Given the description of an element on the screen output the (x, y) to click on. 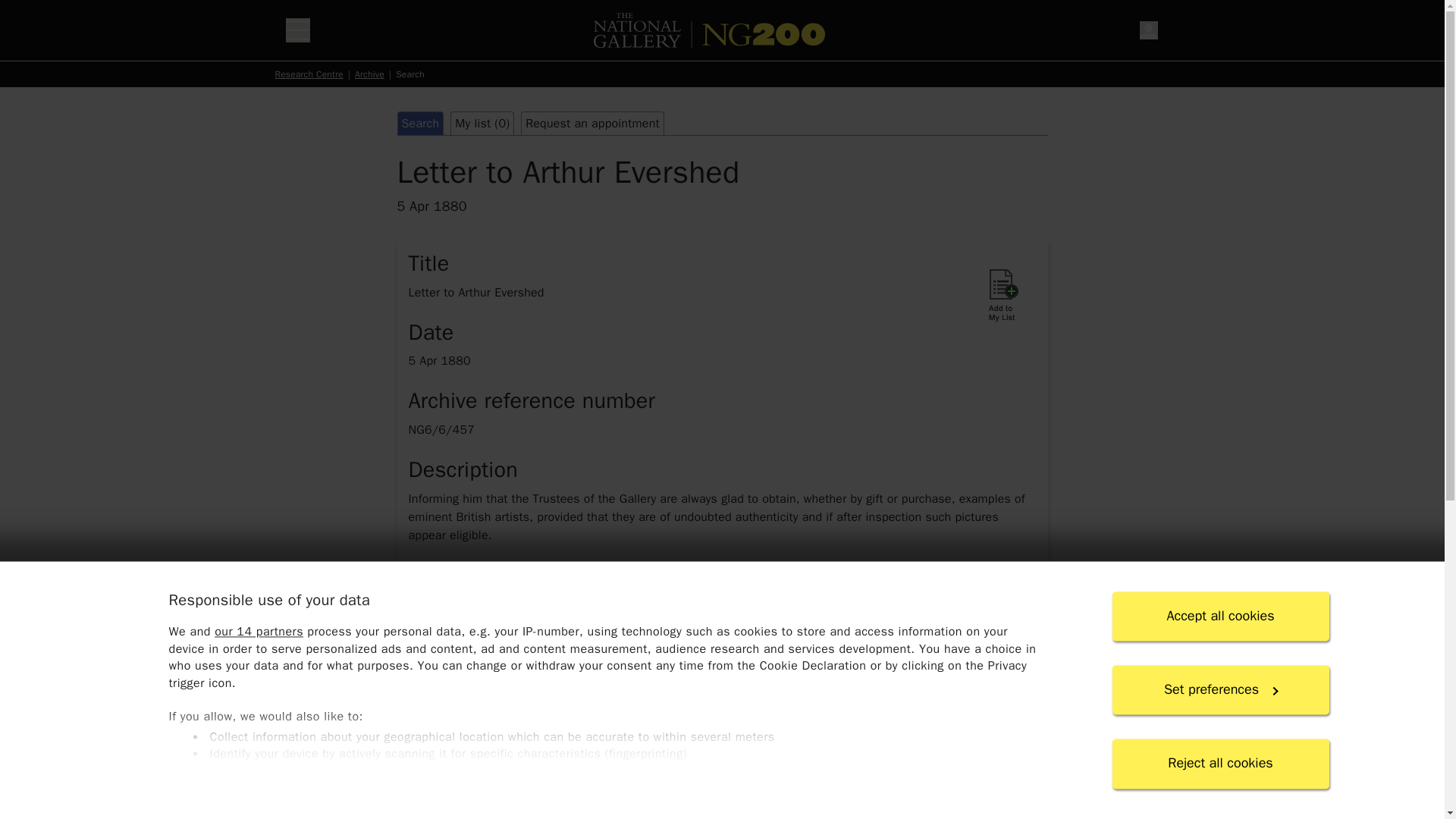
details section (720, 774)
our 14 partners (258, 631)
